Given the description of an element on the screen output the (x, y) to click on. 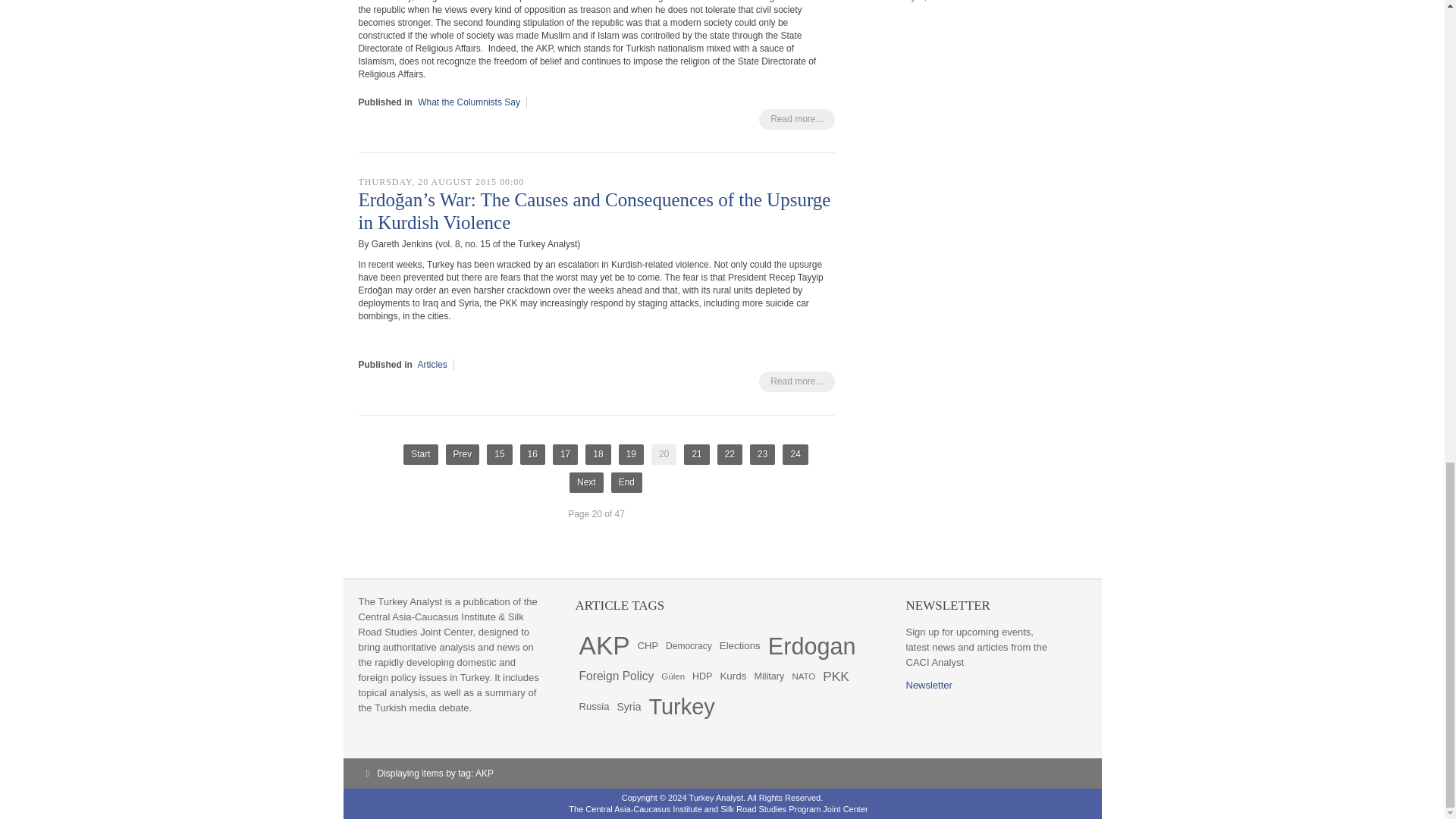
23 (761, 454)
19 (630, 454)
Start (420, 454)
Read more... (796, 118)
Prev (462, 454)
15 (499, 454)
18 (597, 454)
17 (565, 454)
20 (663, 454)
Prev (462, 454)
Next (586, 482)
End (626, 482)
17 (565, 454)
Read more... (796, 381)
38 items tagged with CHP (647, 645)
